Given the description of an element on the screen output the (x, y) to click on. 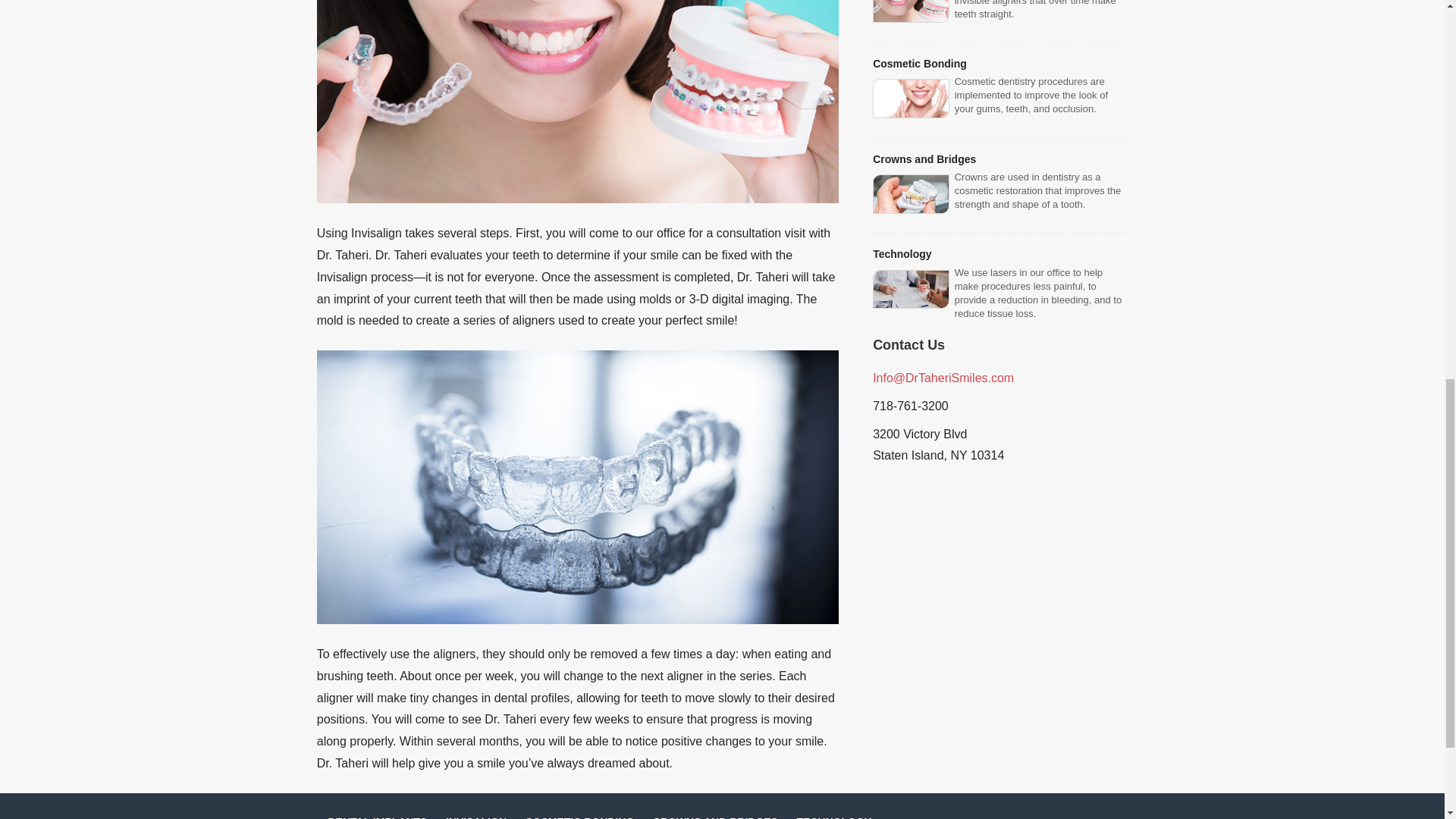
CROWNS AND BRIDGES (714, 817)
INVISALIGN (475, 817)
DENTAL IMPLANTS (376, 817)
TECHNOLOGY (833, 817)
COSMETIC BONDING (578, 817)
